Given the description of an element on the screen output the (x, y) to click on. 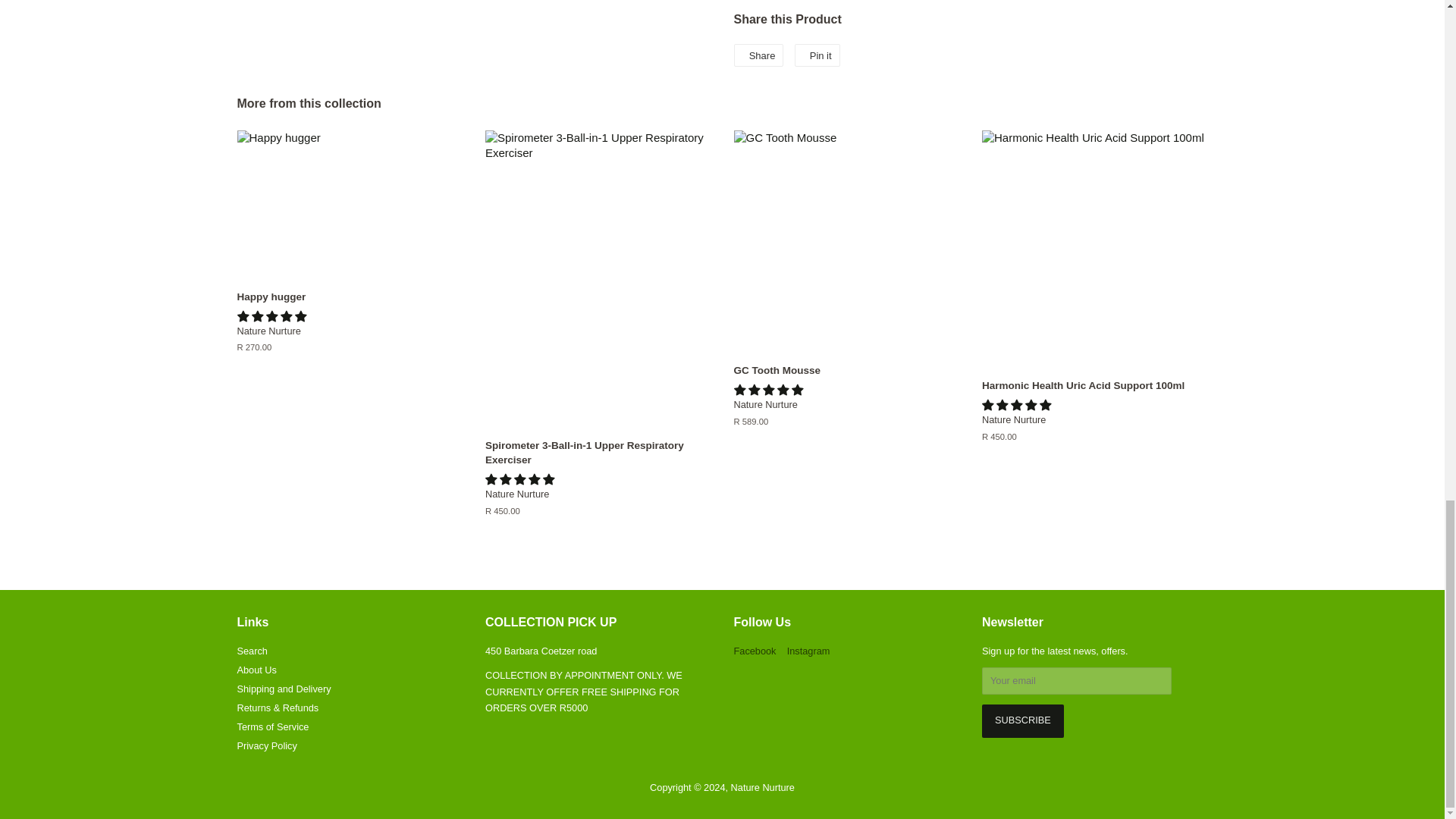
Share on Facebook (758, 55)
Nature Nurture on Facebook (754, 650)
Nature Nurture on Instagram (808, 650)
Subscribe (1022, 720)
Pin on Pinterest (817, 55)
